Given the description of an element on the screen output the (x, y) to click on. 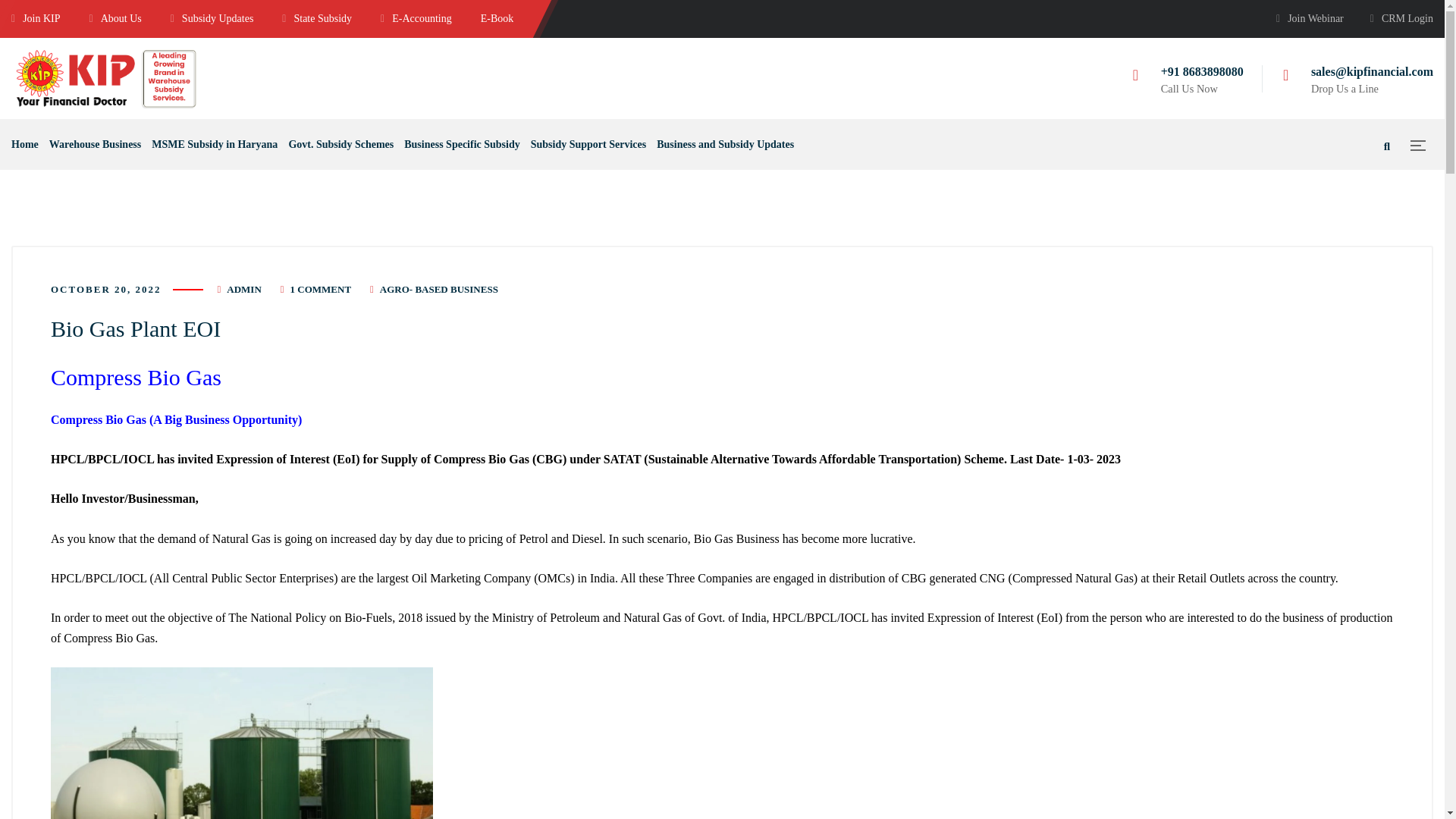
Warehouse Business (95, 143)
State Subsidy (317, 18)
Join Webinar (1309, 18)
Subsidy Updates (211, 18)
CRM Login (1401, 18)
View all posts in Agro- Based Business (438, 288)
E-Book (496, 18)
MSME Subsidy in Haryana (214, 143)
KIP Financial Consultancy Pvt Ltd (105, 77)
E-Accounting (415, 18)
